Given the description of an element on the screen output the (x, y) to click on. 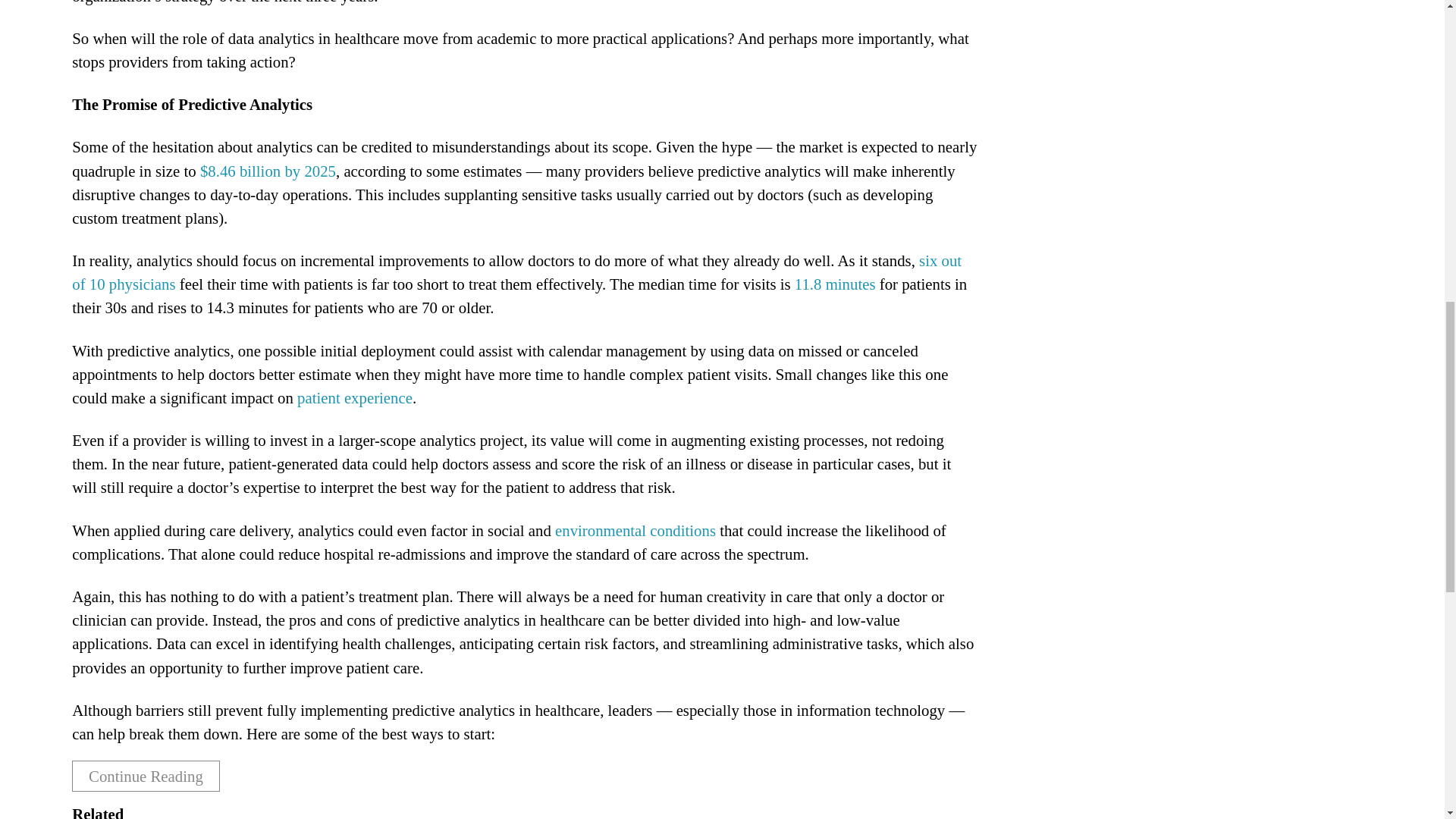
Advertisement (1119, 55)
patient experience (354, 397)
Continue Reading (145, 776)
11.8 minutes (835, 283)
environmental conditions (635, 529)
six out of 10 physicians (515, 271)
